Given the description of an element on the screen output the (x, y) to click on. 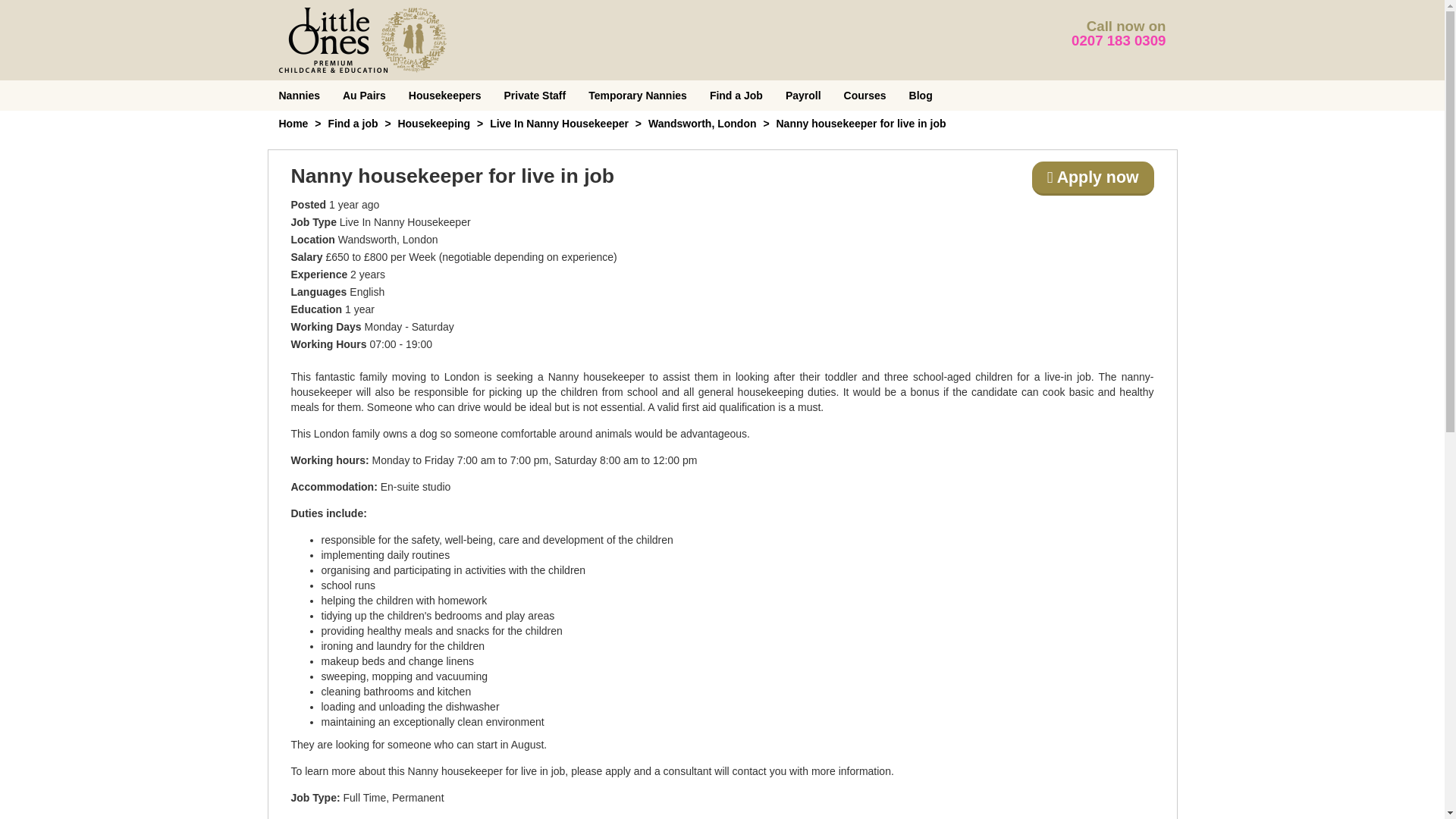
Au Pairs (364, 95)
Housekeepers (445, 95)
Nannies (298, 95)
0207 183 0309 (1118, 40)
